Given the description of an element on the screen output the (x, y) to click on. 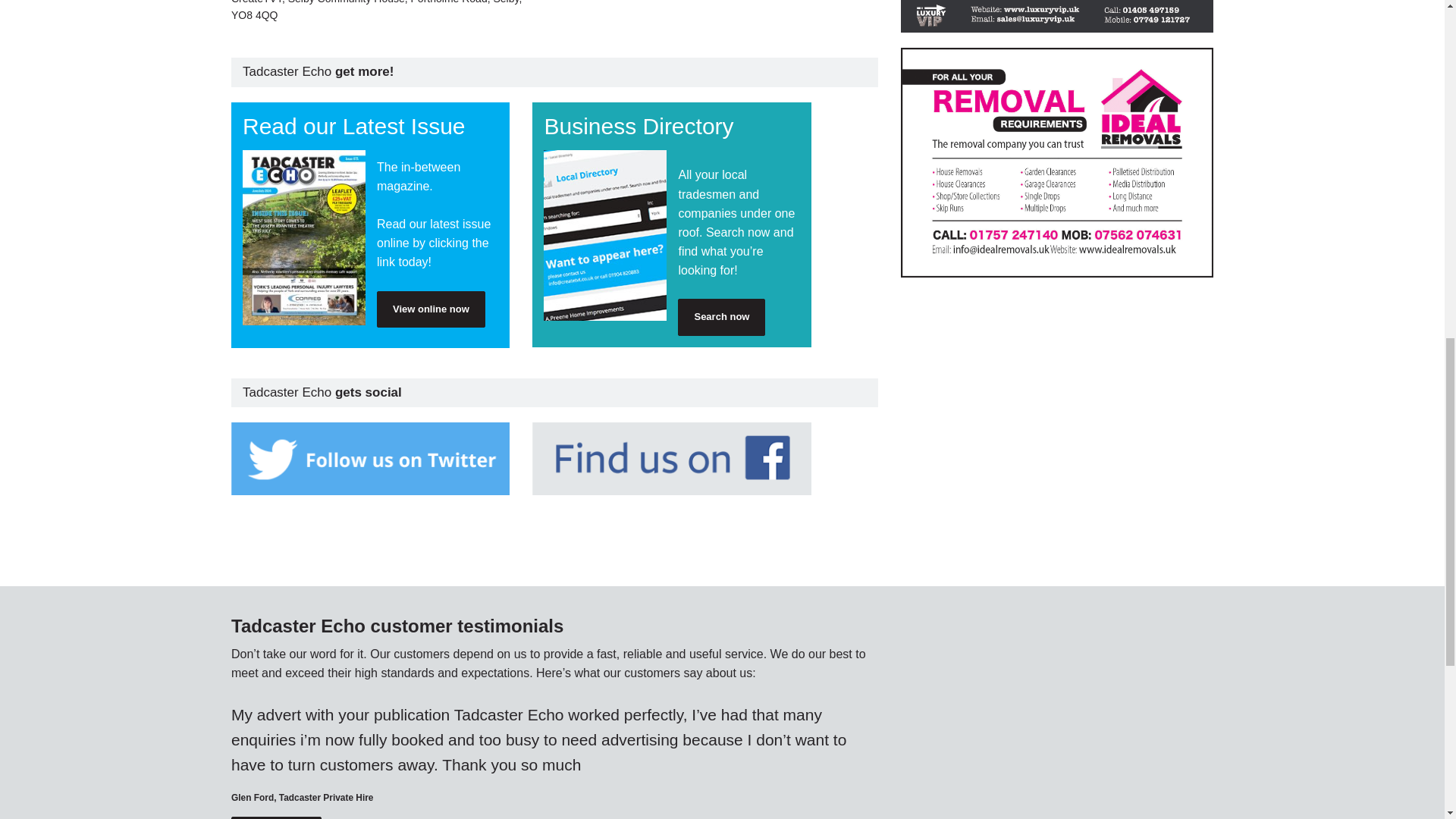
View online now (430, 309)
Search now (721, 316)
Ideal Removals (1056, 162)
Follow us on Twitter (370, 458)
View all (276, 817)
Find us and like on Facebook (671, 458)
